Given the description of an element on the screen output the (x, y) to click on. 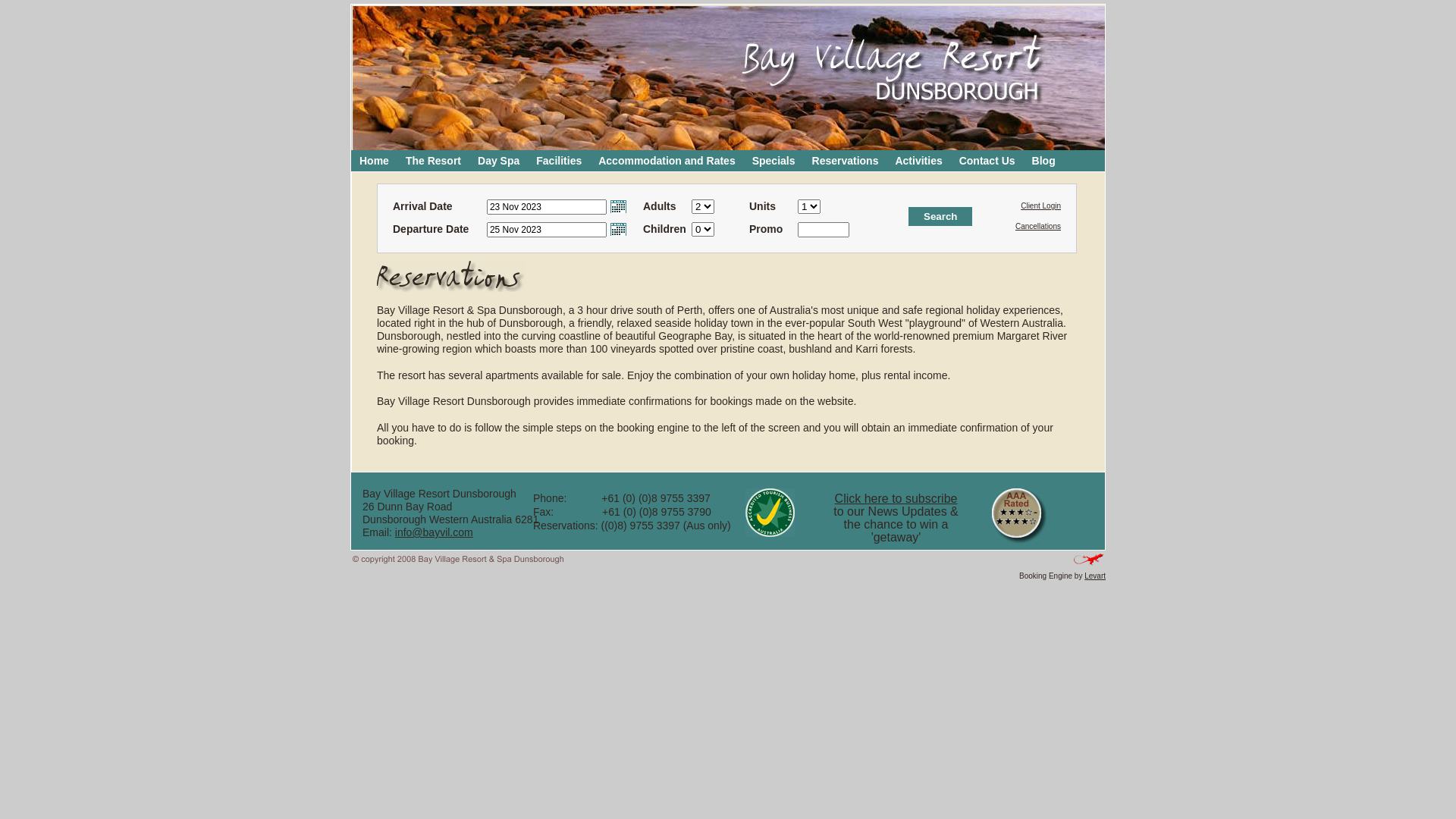
Home Element type: text (374, 160)
Blog Element type: text (1043, 160)
Contact Us Element type: text (986, 160)
Reservations Element type: text (845, 160)
Facilities Element type: text (558, 160)
... Element type: text (618, 206)
Levart Element type: text (1094, 575)
Activities Element type: text (918, 160)
Cancellations Element type: text (1037, 226)
info@bayvil.com Element type: text (434, 532)
Specials Element type: text (773, 160)
... Element type: text (618, 228)
Click here to subscribe Element type: text (895, 498)
Day Spa Element type: text (498, 160)
Search Element type: text (940, 216)
Client Login Element type: text (1040, 205)
The Resort Element type: text (433, 160)
Accommodation and Rates Element type: text (666, 160)
